Given the description of an element on the screen output the (x, y) to click on. 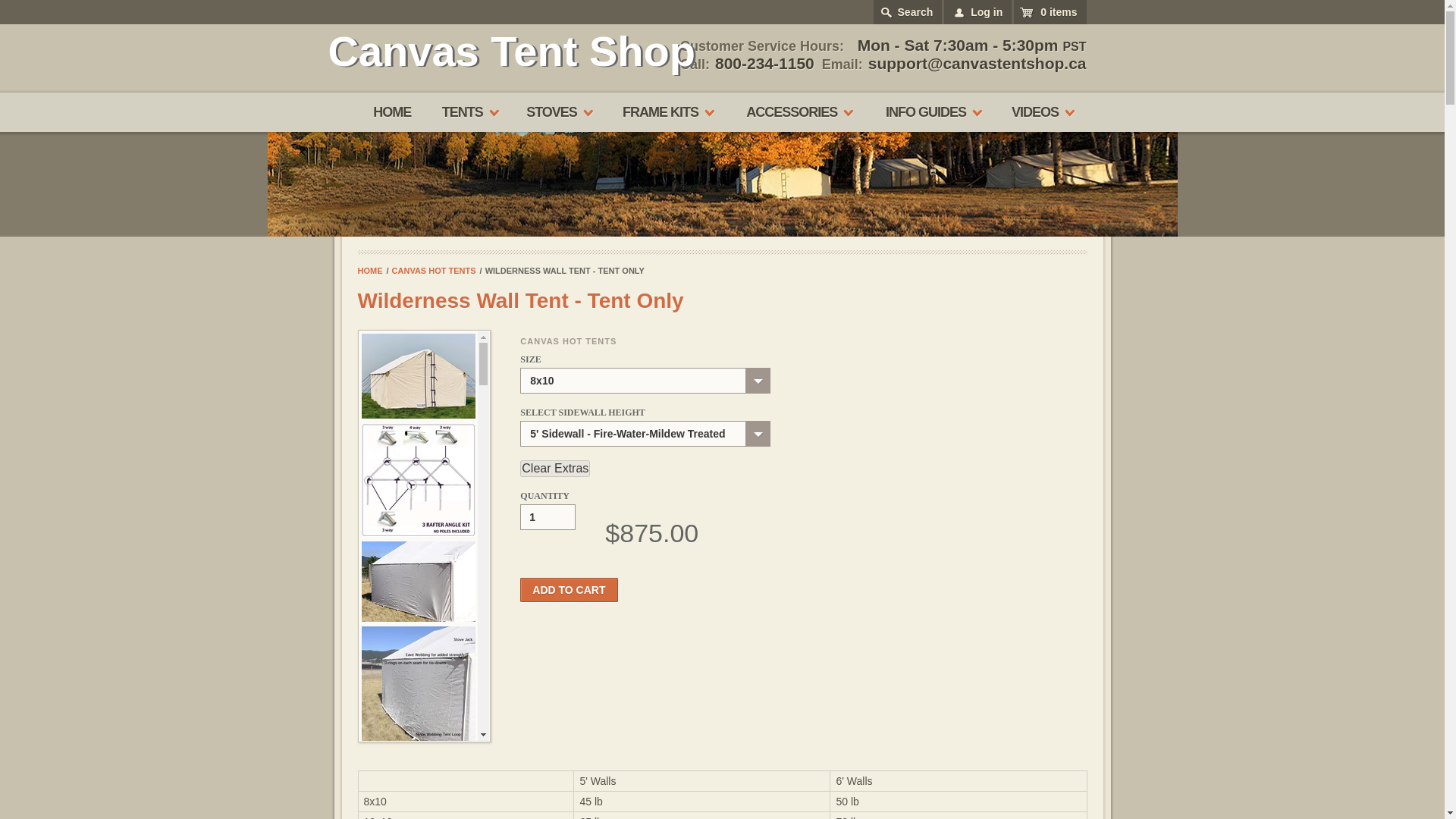
INFO GUIDES (931, 111)
Log in (977, 12)
ACCESSORIES (797, 111)
Clear Extras (554, 468)
HOME (391, 111)
ADD TO CART (568, 589)
STOVES (558, 111)
TENTS (468, 111)
0 items (1049, 12)
1 (547, 516)
